Given the description of an element on the screen output the (x, y) to click on. 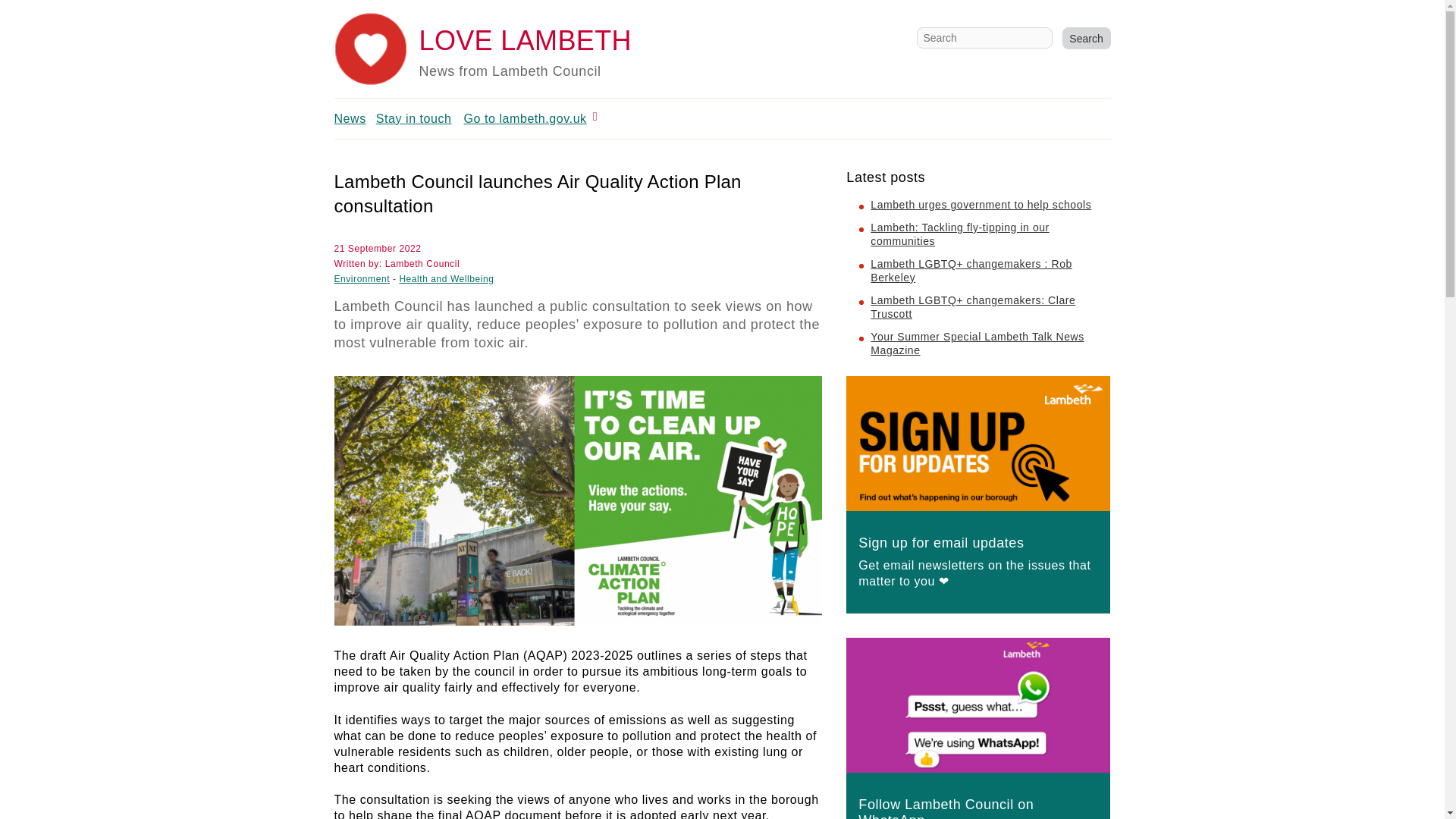
Lambeth: Tackling fly-tipping in our communities (959, 234)
Search (1085, 38)
Stay in touch (413, 118)
Lambeth urges government to help schools (980, 204)
Lambeth: Tackling fly-tipping in our communities (959, 234)
Go to lambeth.gov.uk (525, 118)
Environment (361, 278)
Lambeth urges government to help schools (980, 204)
Health and Wellbeing (445, 278)
Your Summer Special Lambeth Talk News Magazine (976, 343)
News (349, 118)
Your Summer Special Lambeth Talk News Magazine (976, 343)
Search (1085, 38)
